Given the description of an element on the screen output the (x, y) to click on. 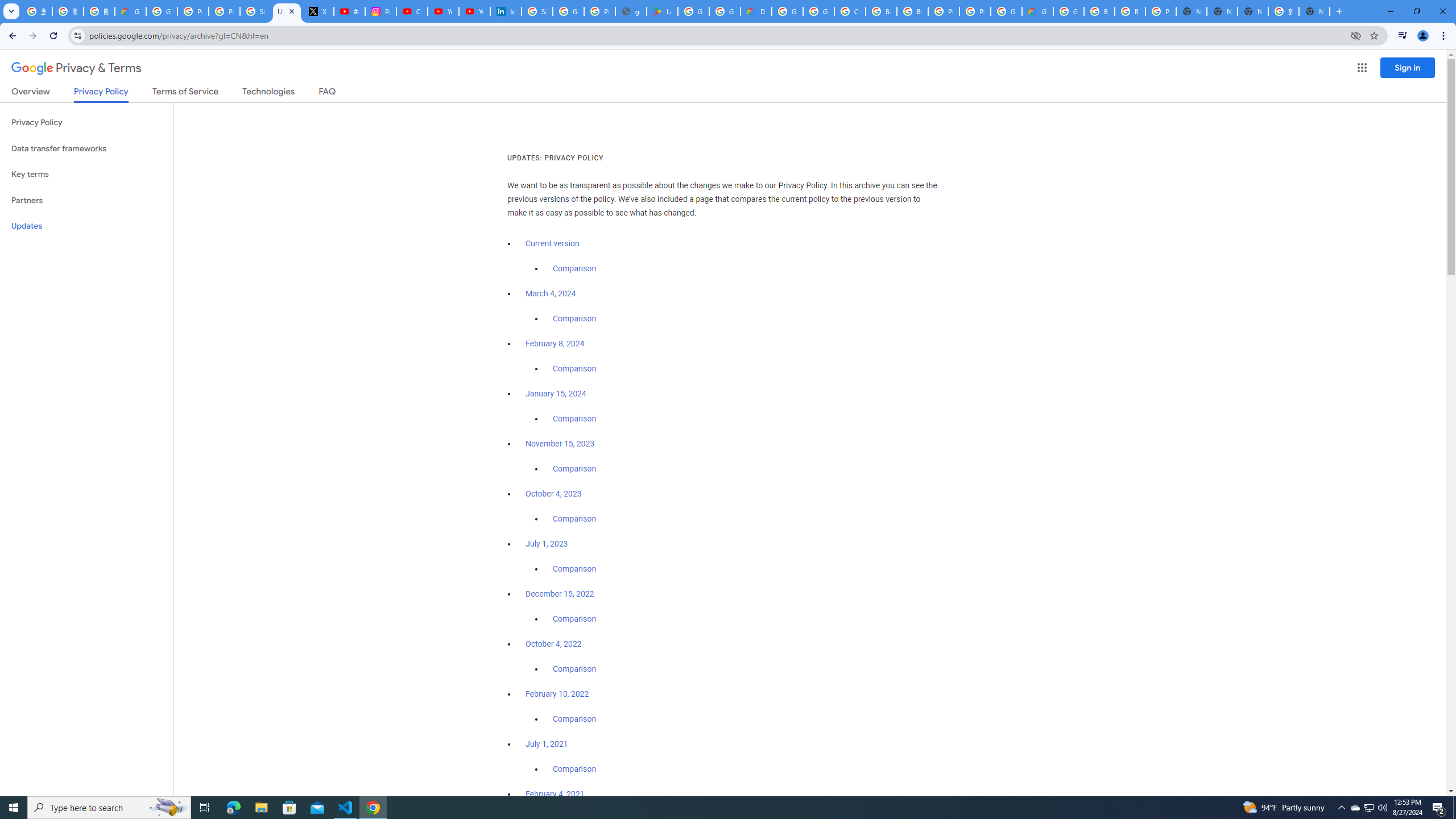
New Tab (1314, 11)
January 15, 2024 (555, 394)
Privacy Help Center - Policies Help (223, 11)
Sign in - Google Accounts (255, 11)
#nbabasketballhighlights - YouTube (349, 11)
Google Cloud Platform (1068, 11)
